Given the description of an element on the screen output the (x, y) to click on. 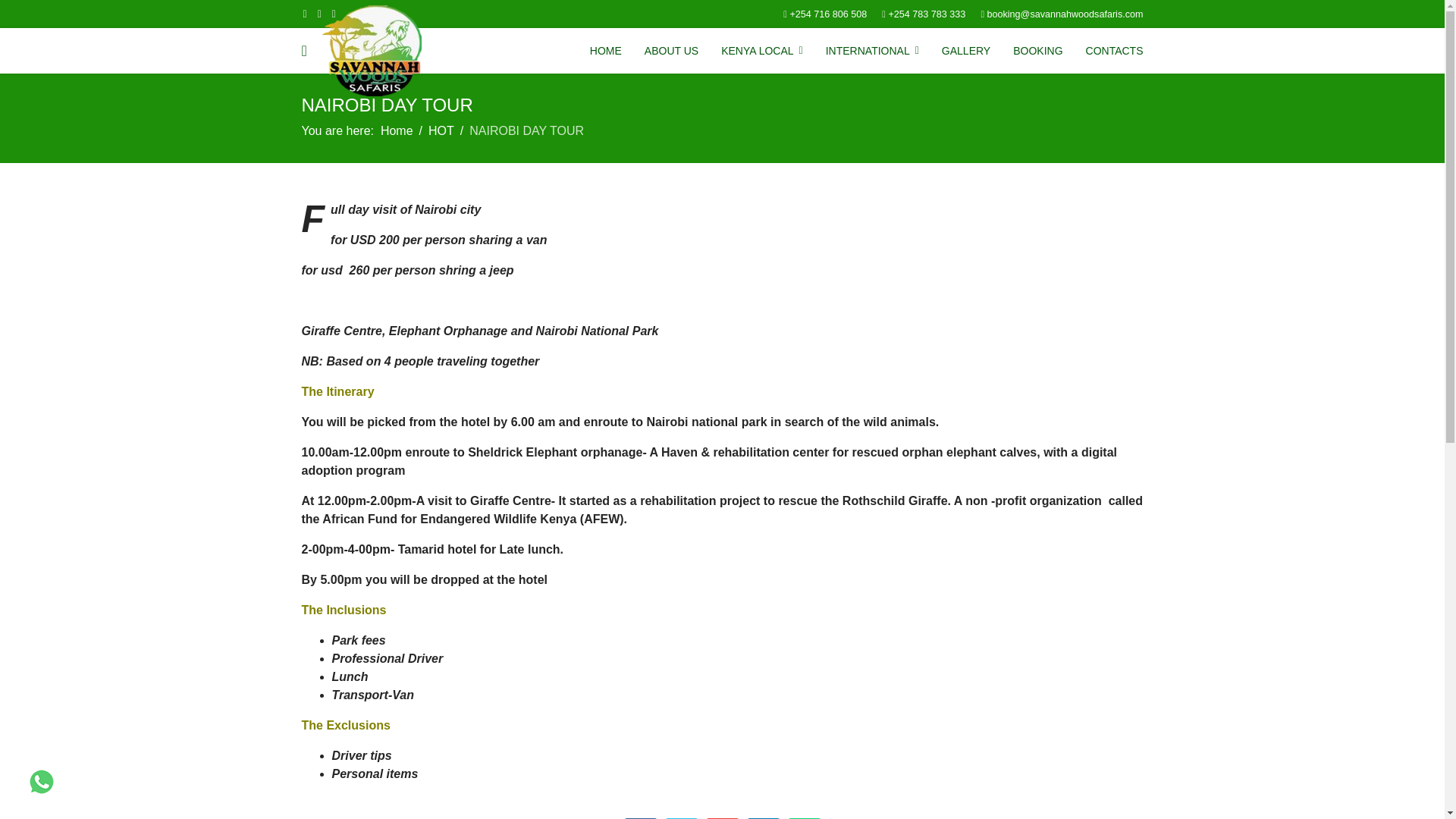
INTERNATIONAL (871, 50)
HOME (605, 50)
KENYA LOCAL (761, 50)
ABOUT US (671, 50)
